Given the description of an element on the screen output the (x, y) to click on. 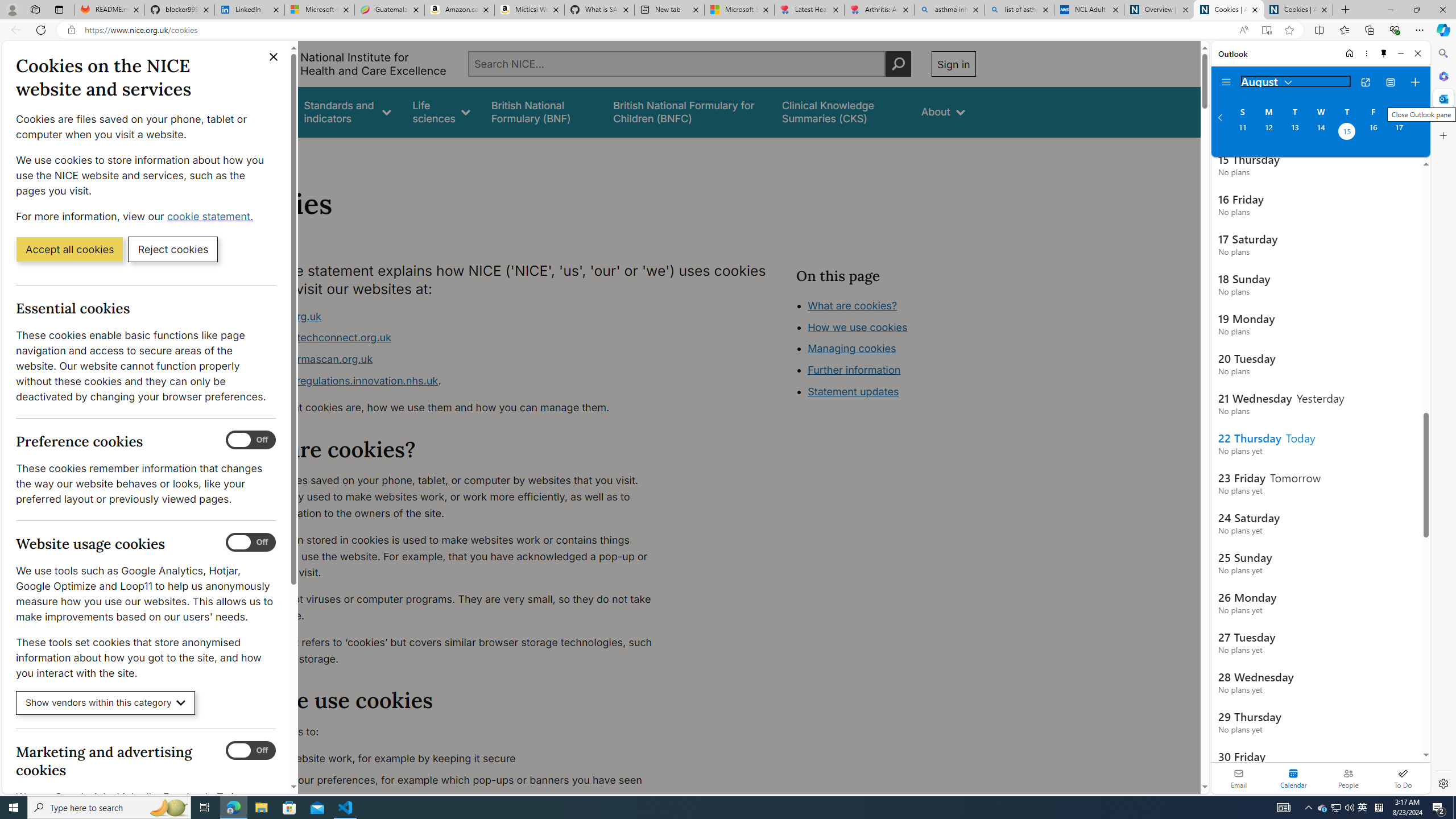
www.ukpharmascan.org.uk (305, 359)
How we use cookies (896, 389)
www.digitalregulations.innovation.nhs.uk (338, 380)
make our website work, for example by keeping it secure (452, 759)
Selected calendar module. Date today is 22 (1293, 777)
